Given the description of an element on the screen output the (x, y) to click on. 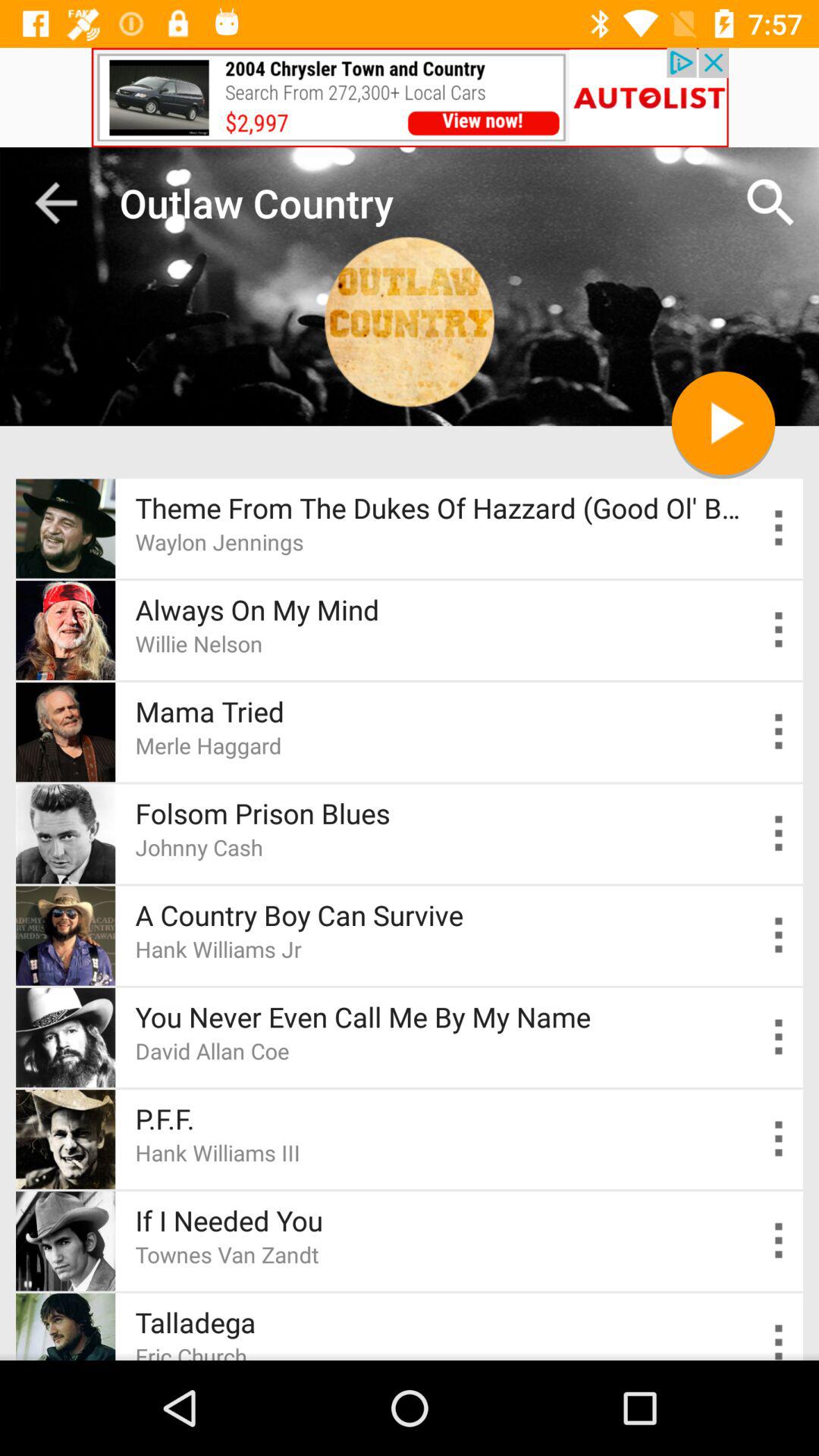
more options (779, 528)
